Given the description of an element on the screen output the (x, y) to click on. 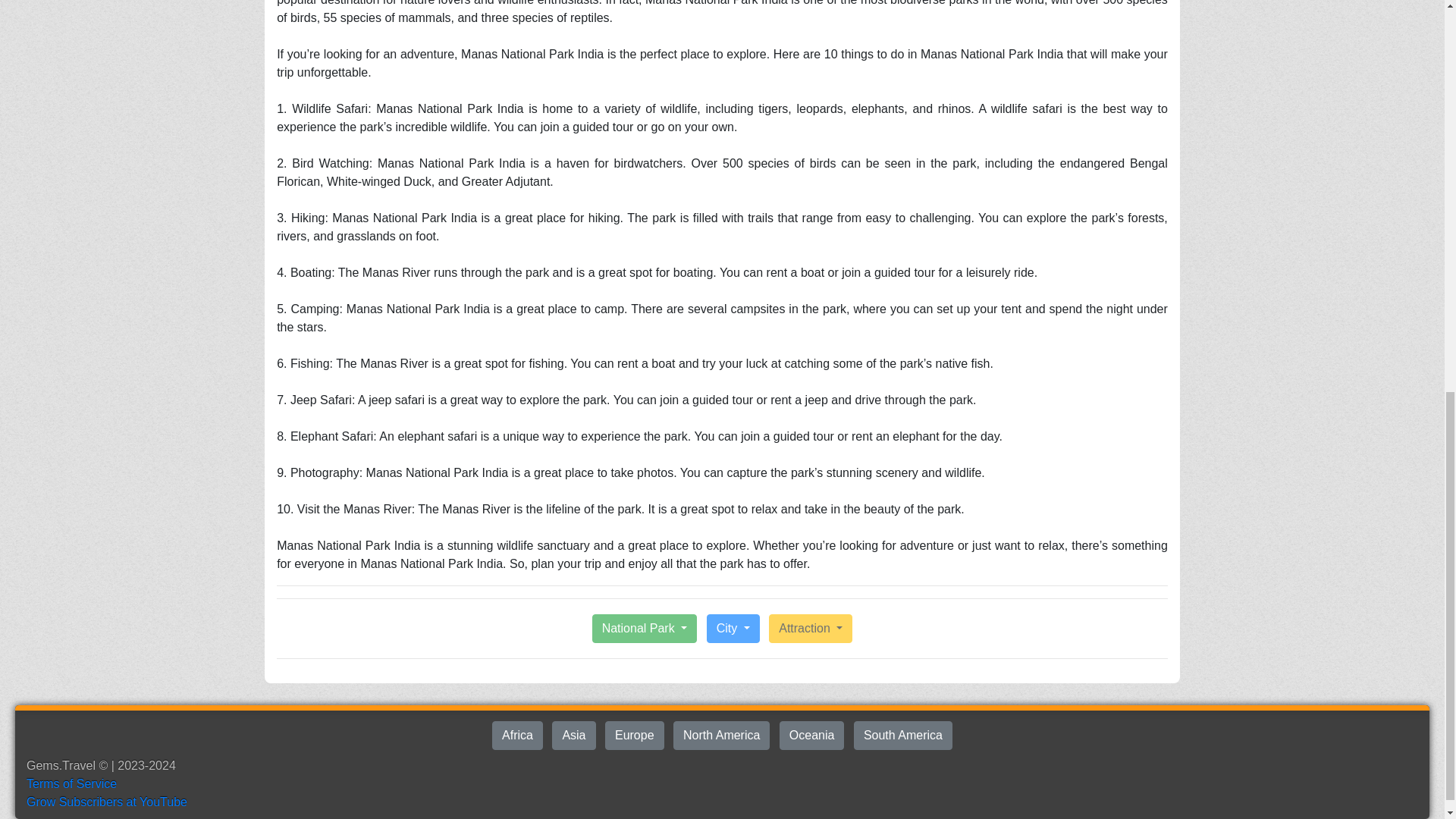
National Park (644, 628)
